Given the description of an element on the screen output the (x, y) to click on. 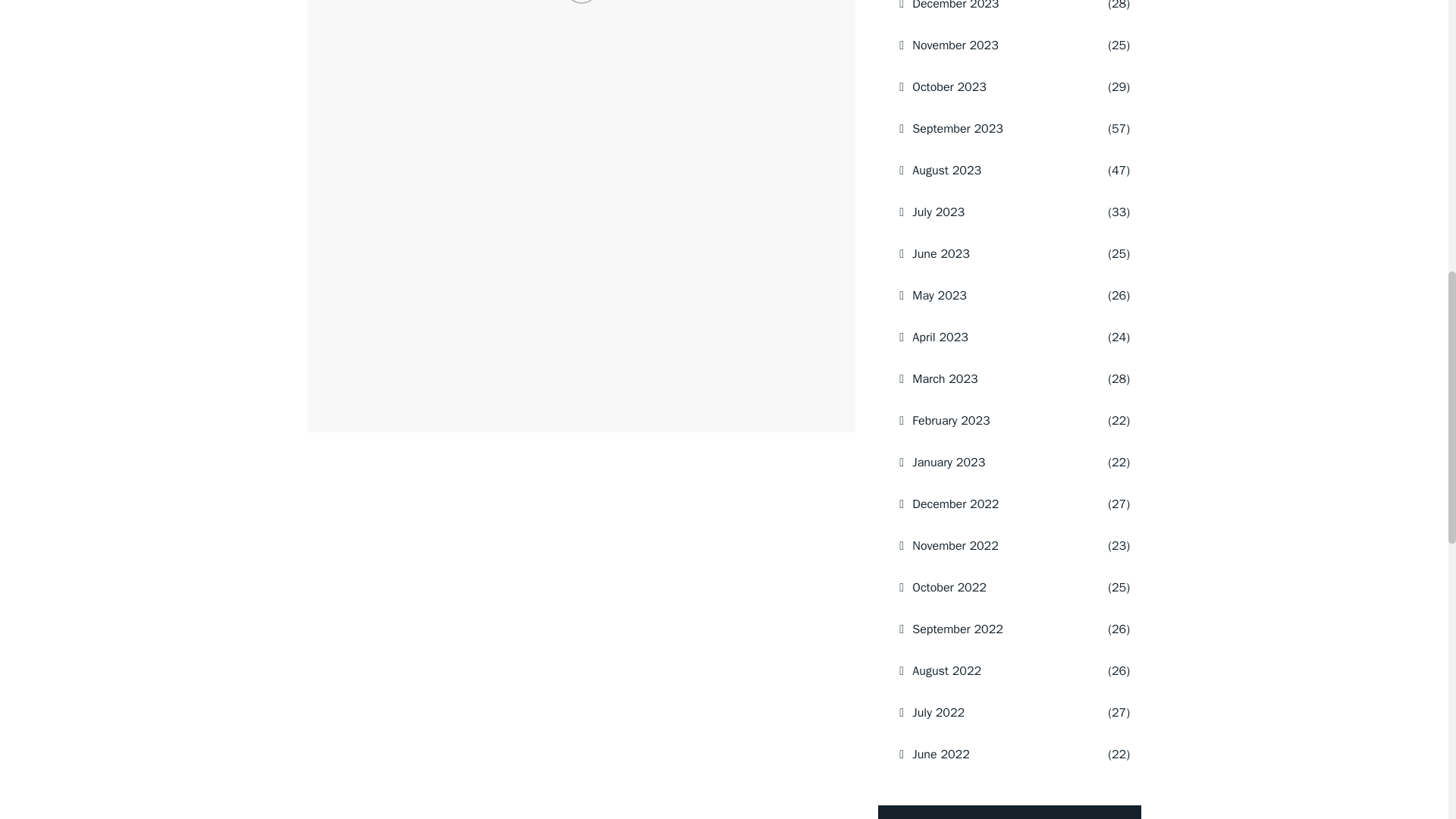
March 2023 (990, 378)
December 2023 (990, 12)
December 2022 (990, 504)
August 2023 (990, 169)
February 2023 (990, 420)
September 2023 (990, 128)
November 2023 (990, 45)
October 2023 (990, 86)
November 2022 (990, 545)
October 2022 (990, 587)
April 2023 (990, 336)
May 2023 (990, 295)
January 2023 (990, 462)
June 2023 (990, 253)
July 2023 (990, 211)
